Given the description of an element on the screen output the (x, y) to click on. 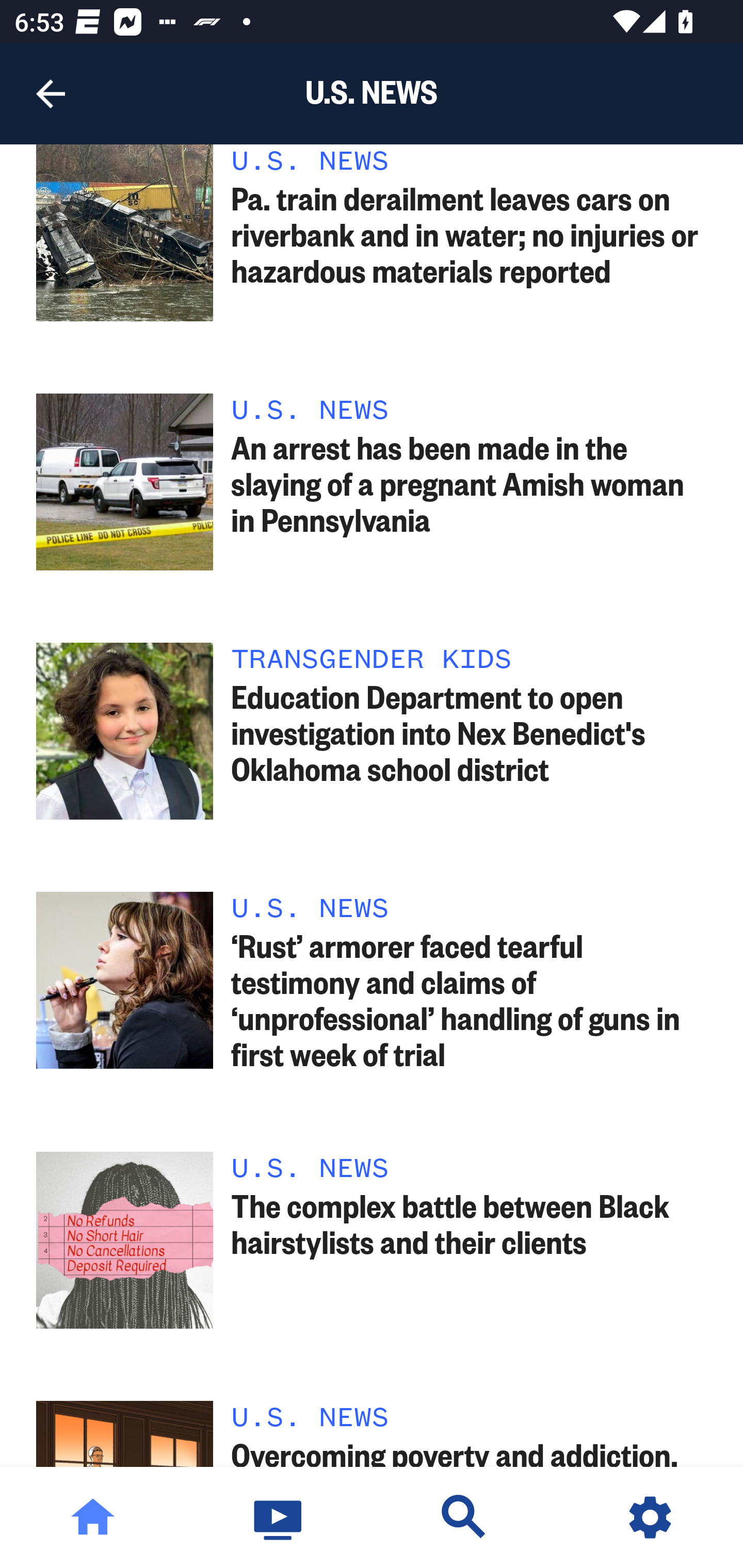
Navigate up (50, 93)
Watch (278, 1517)
Discover (464, 1517)
Settings (650, 1517)
